Given the description of an element on the screen output the (x, y) to click on. 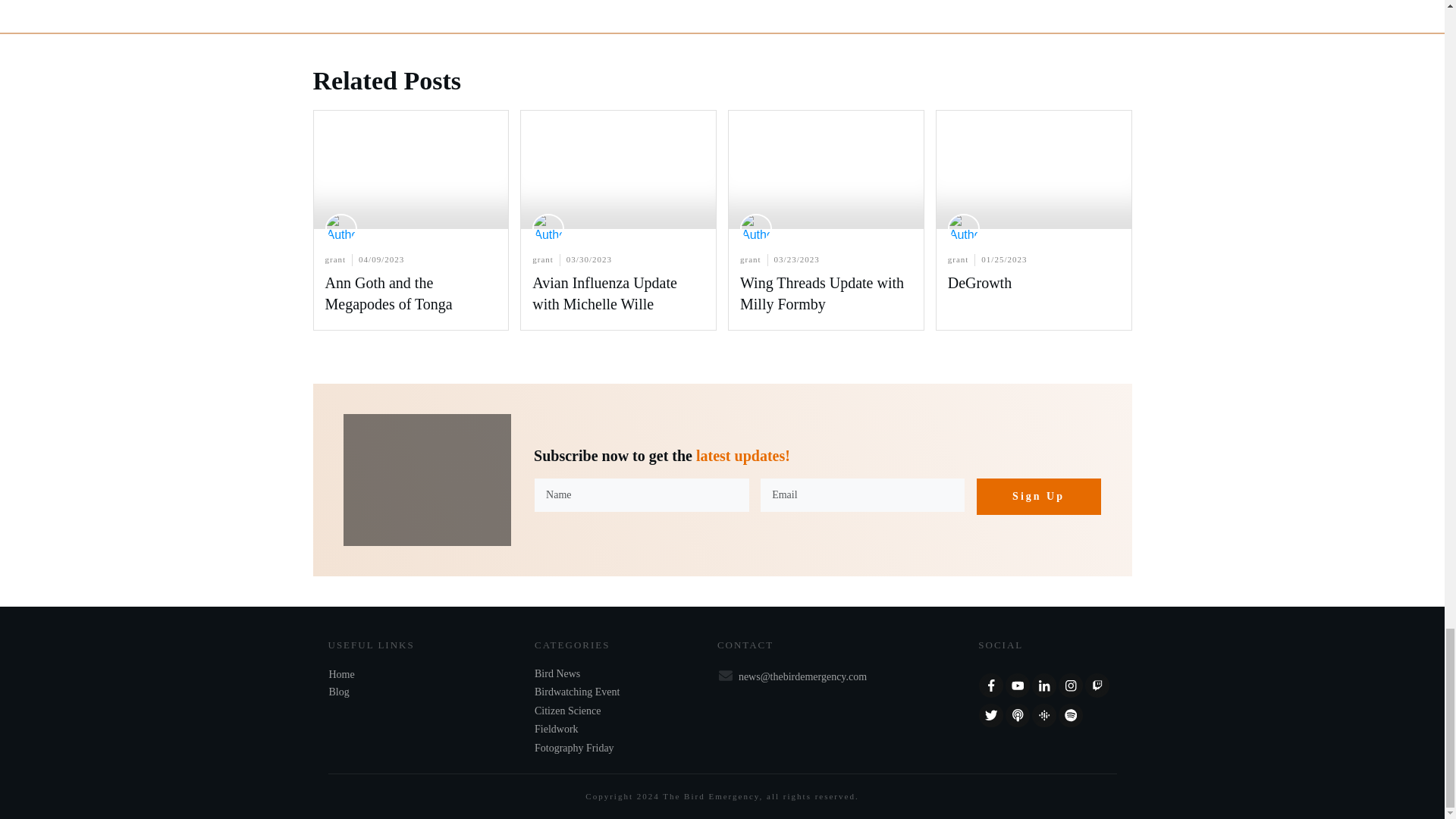
Wing Threads Update with Milly Formby (821, 293)
Bird News (556, 673)
Home (342, 674)
Ann Goth and the Megapodes of Tonga (411, 220)
DeGrowth (979, 282)
Wing Threads Update with Milly Formby (821, 293)
Ann Goth and the Megapodes of Tonga (387, 293)
Fotography Friday (574, 748)
Avian Influenza Update with Michelle Wille (604, 293)
Blog (339, 691)
